Given the description of an element on the screen output the (x, y) to click on. 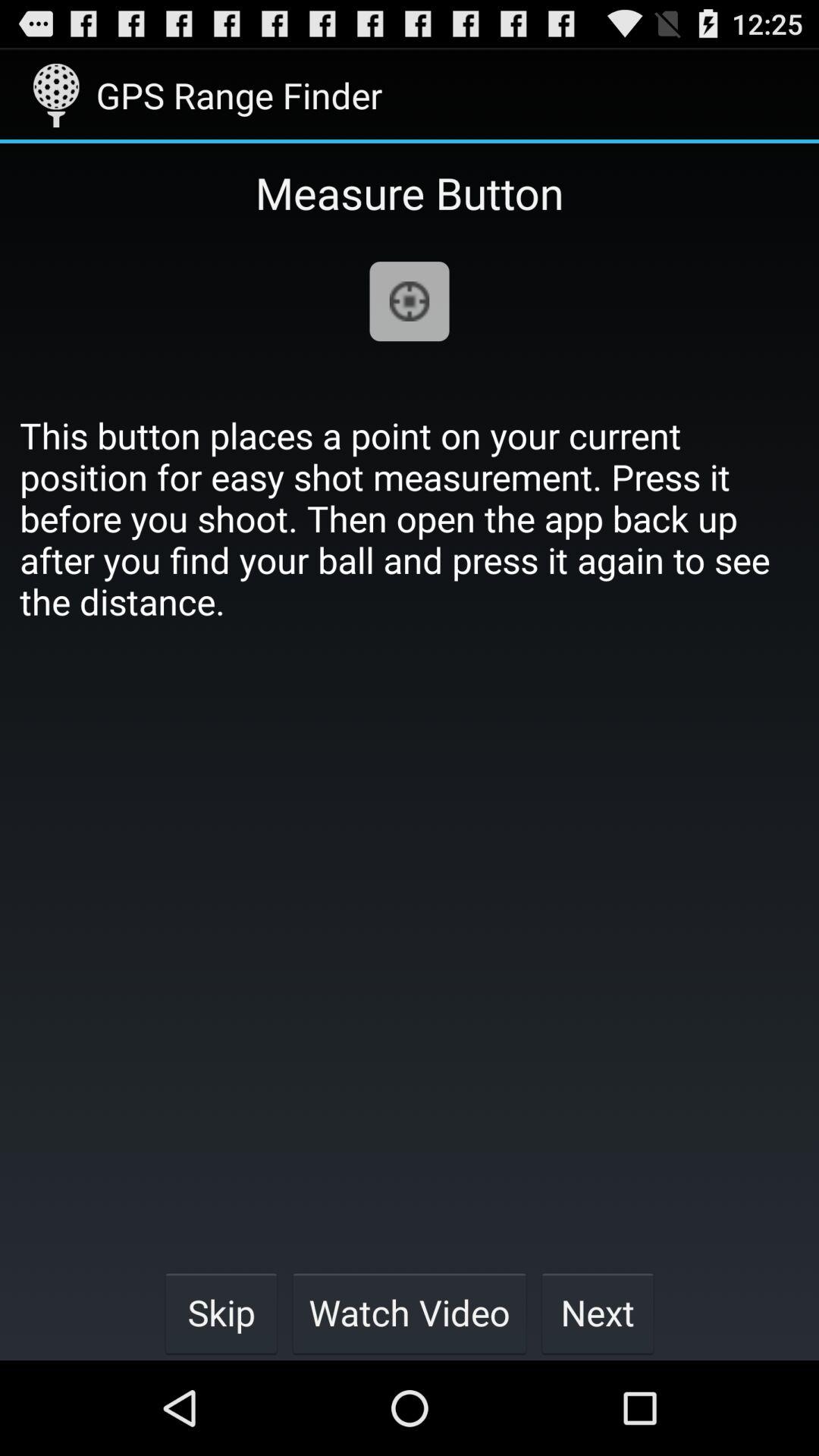
choose the item to the left of watch video icon (220, 1312)
